Given the description of an element on the screen output the (x, y) to click on. 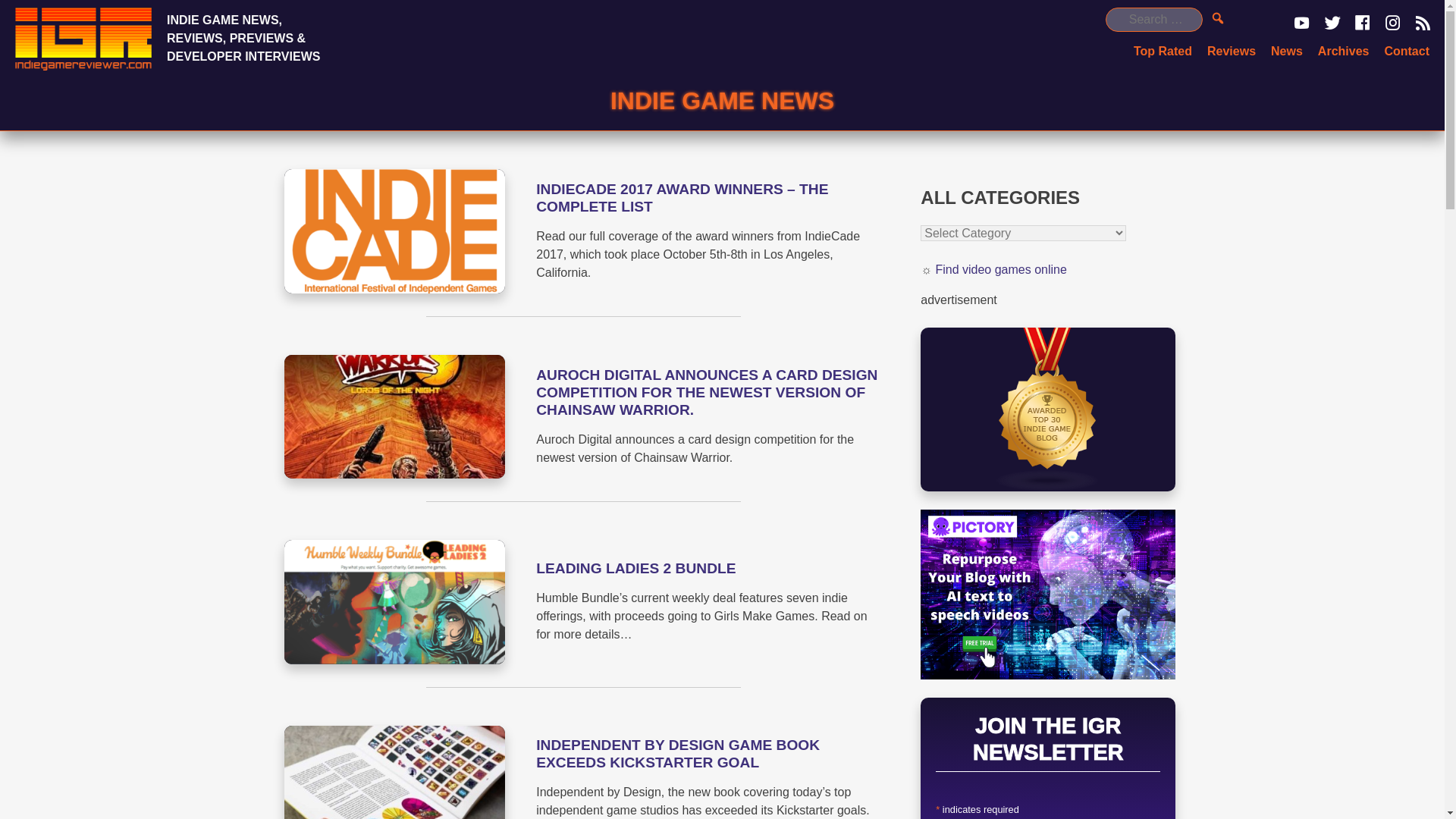
INDEPENDENT BY DESIGN GAME BOOK EXCEEDS KICKSTARTER GOAL (677, 753)
LEADING LADIES 2 BUNDLE (635, 568)
Contact (1406, 51)
News (1287, 51)
Reviews (1231, 51)
Search for: (1153, 19)
Mastodon (26, 8)
Indie Game blogs (1047, 409)
Top Rated (1163, 51)
